Given the description of an element on the screen output the (x, y) to click on. 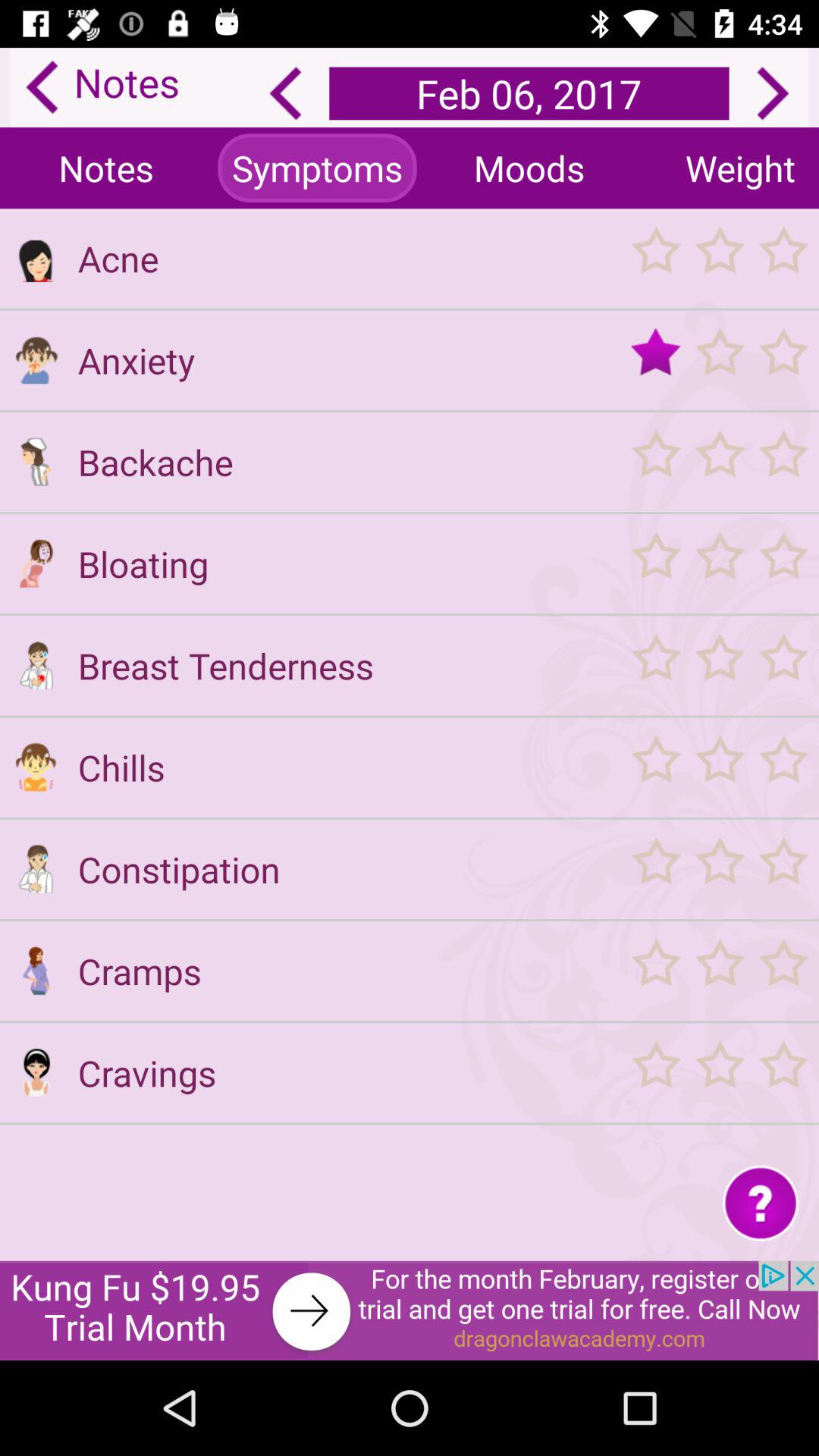
go forward (772, 93)
